Given the description of an element on the screen output the (x, y) to click on. 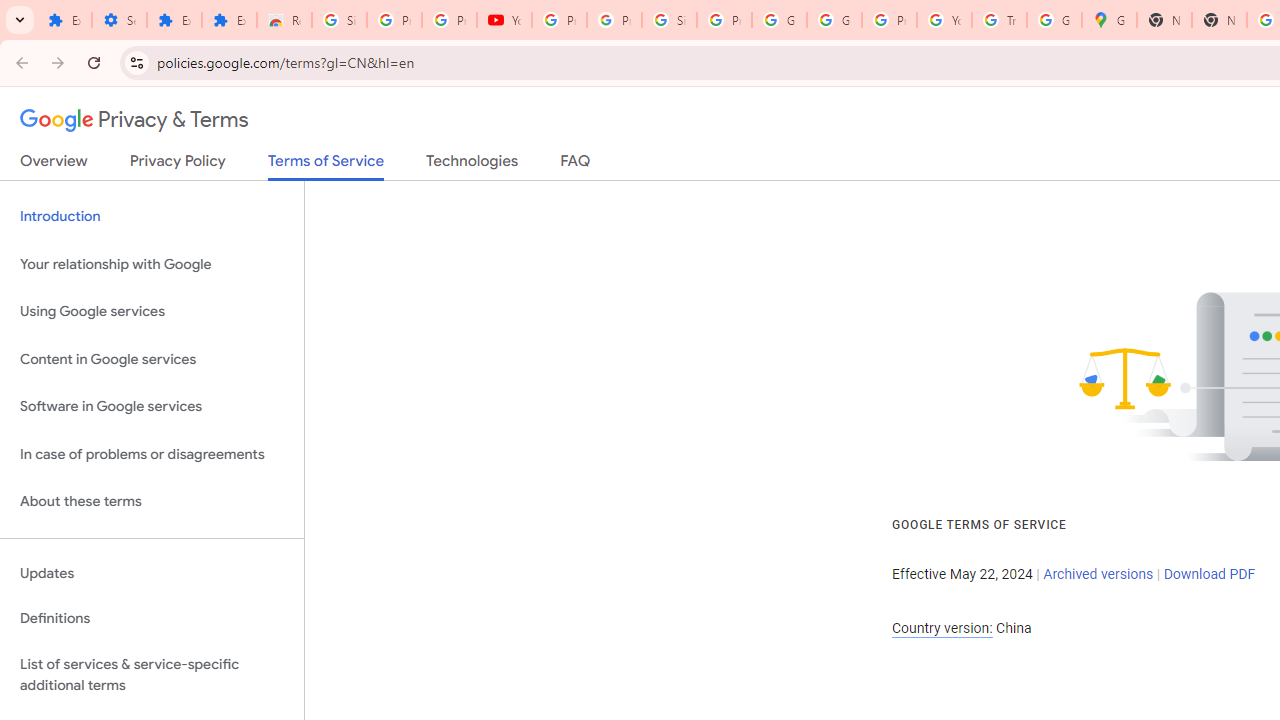
Reviews: Helix Fruit Jump Arcade Game (284, 20)
List of services & service-specific additional terms (152, 674)
In case of problems or disagreements (152, 453)
Introduction (152, 216)
New Tab (1218, 20)
Extensions (229, 20)
About these terms (152, 502)
